Given the description of an element on the screen output the (x, y) to click on. 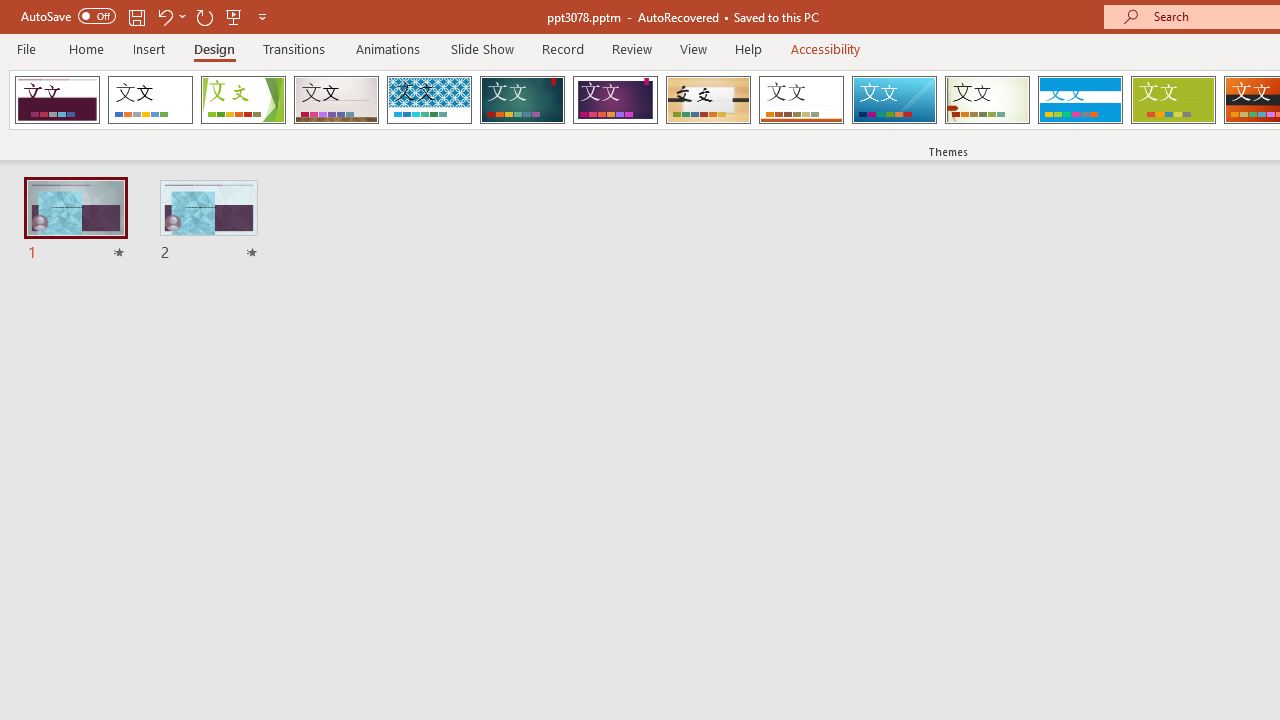
Ion (522, 100)
Facet (243, 100)
Retrospect (801, 100)
Banded (1080, 100)
